Given the description of an element on the screen output the (x, y) to click on. 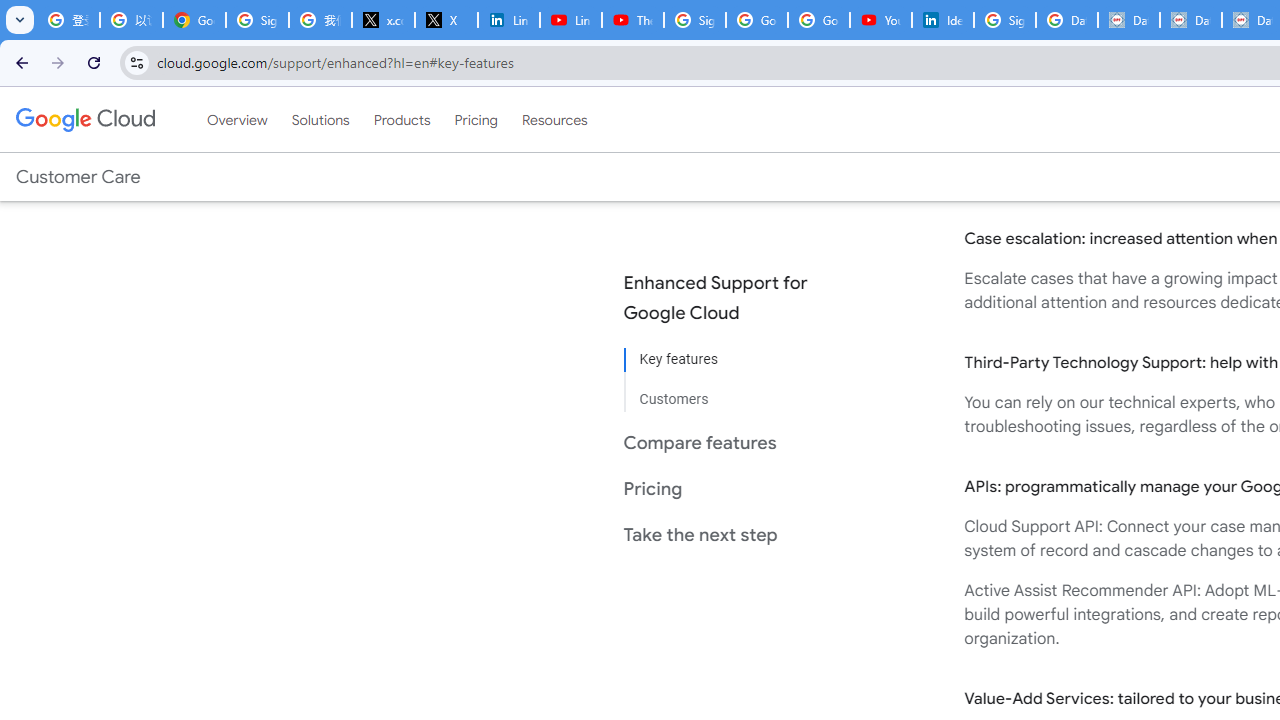
X (445, 20)
Compare features (732, 442)
Products (401, 119)
LinkedIn Privacy Policy (508, 20)
Take the next step (732, 534)
